Given the description of an element on the screen output the (x, y) to click on. 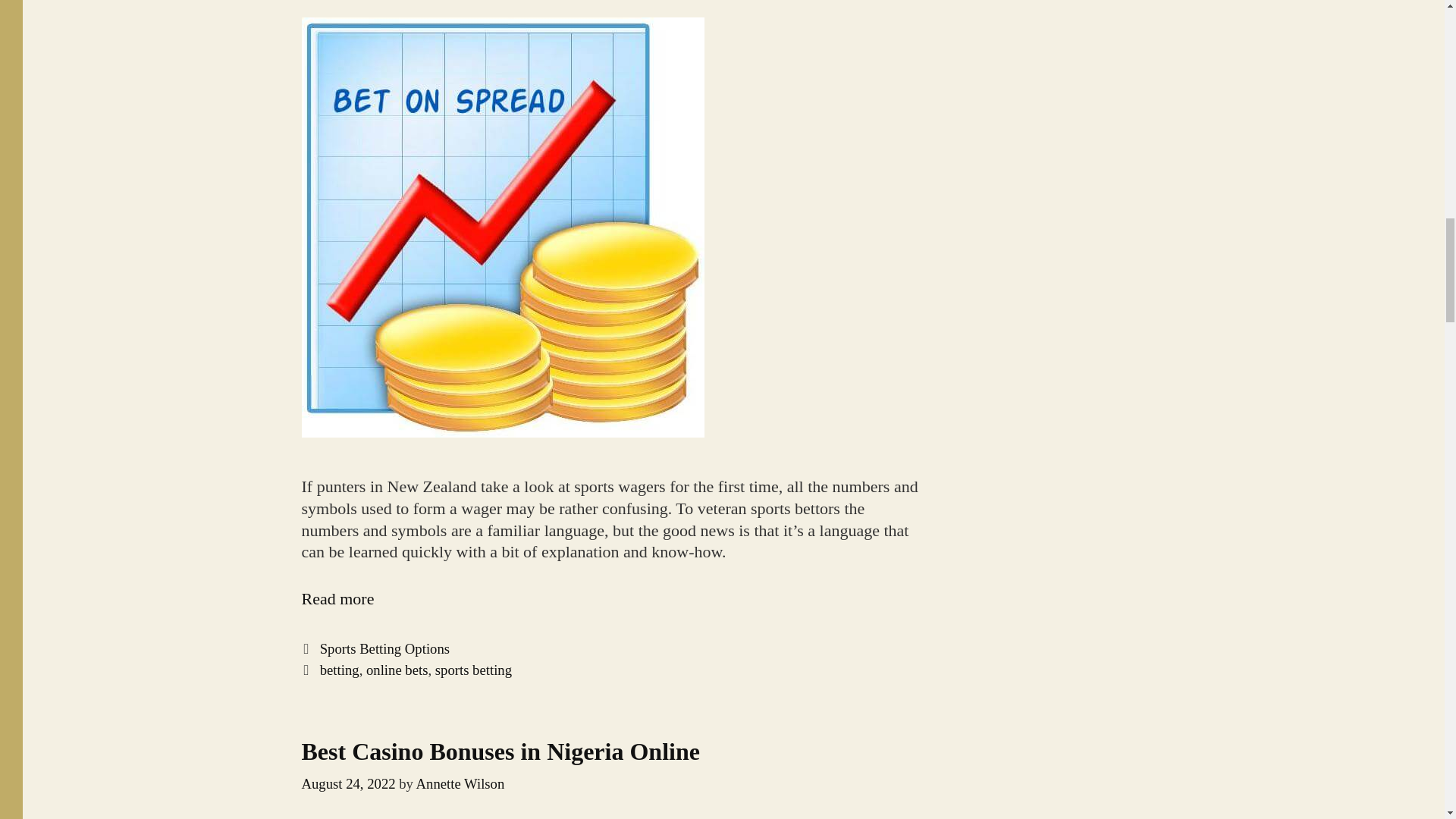
Sport Spread Betting Explained for Kiwi Punters (337, 598)
Annette Wilson (337, 598)
Best Casino Bonuses in Nigeria Online (460, 783)
online bets (500, 750)
August 24, 2022 (397, 669)
View all posts by Annette Wilson (348, 783)
sports betting (460, 783)
betting (473, 669)
8:12 am (339, 669)
Sports Betting Options (348, 783)
